Given the description of an element on the screen output the (x, y) to click on. 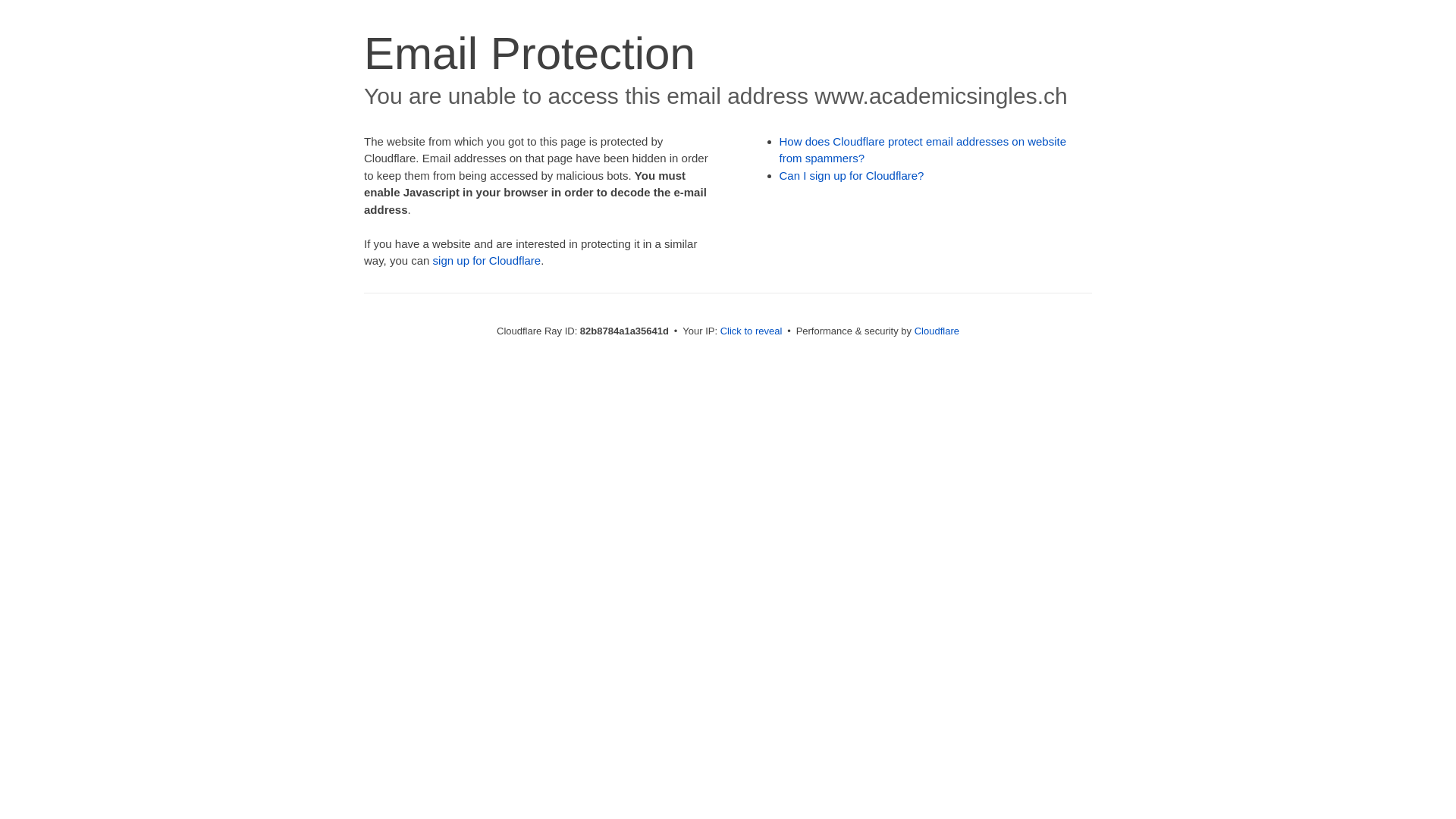
Click to reveal Element type: text (751, 330)
Can I sign up for Cloudflare? Element type: text (851, 175)
sign up for Cloudflare Element type: text (487, 260)
Cloudflare Element type: text (936, 330)
